Given the description of an element on the screen output the (x, y) to click on. 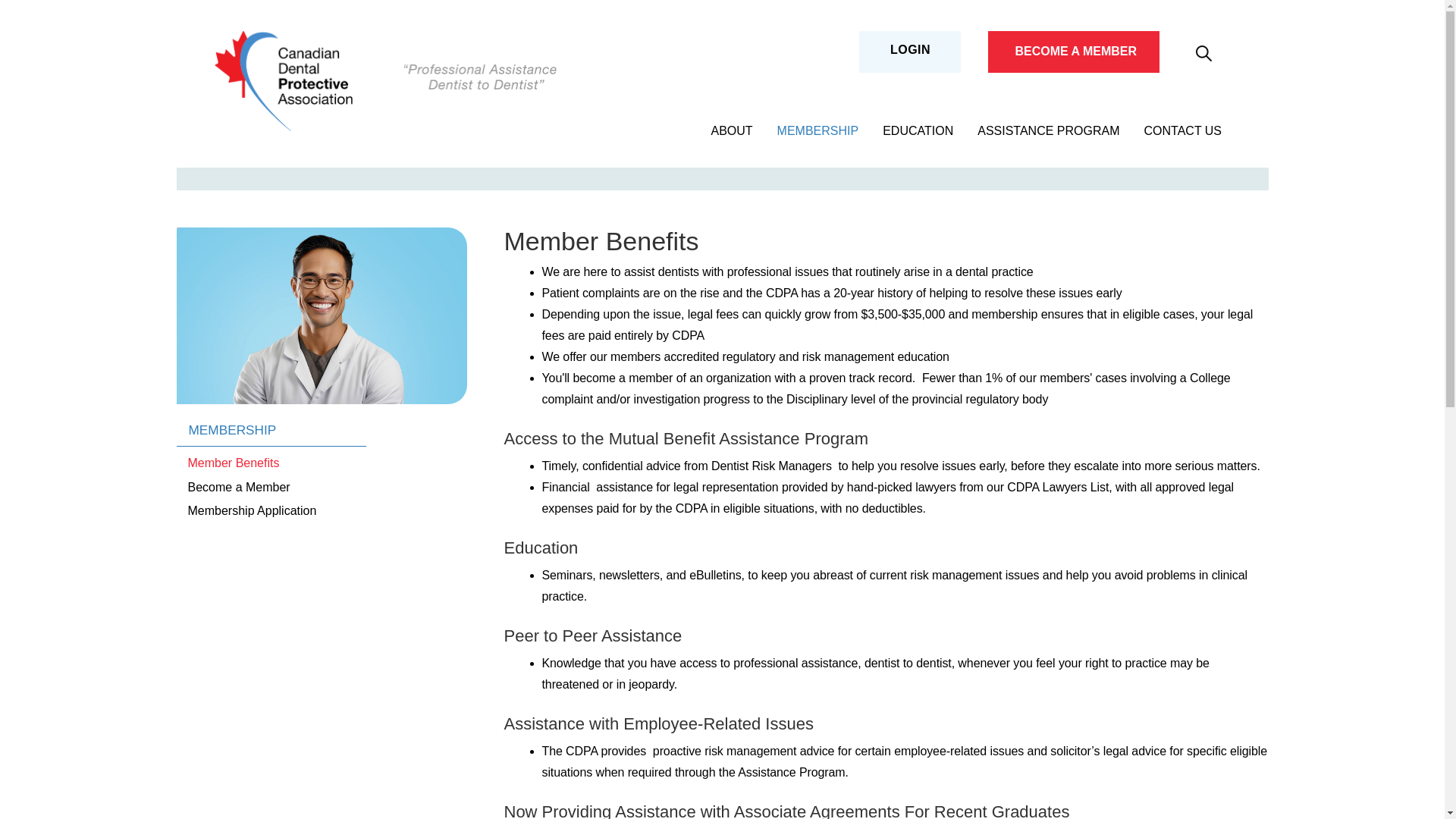
LOGIN (909, 48)
EDUCATION (916, 130)
Member Benefits (232, 463)
Membership Application (251, 511)
CONTACT US (1182, 130)
ASSISTANCE PROGRAM (1048, 130)
BECOME A MEMBER (1075, 51)
Become a Member (238, 487)
MEMBERSHIP (817, 130)
ABOUT (730, 130)
